Given the description of an element on the screen output the (x, y) to click on. 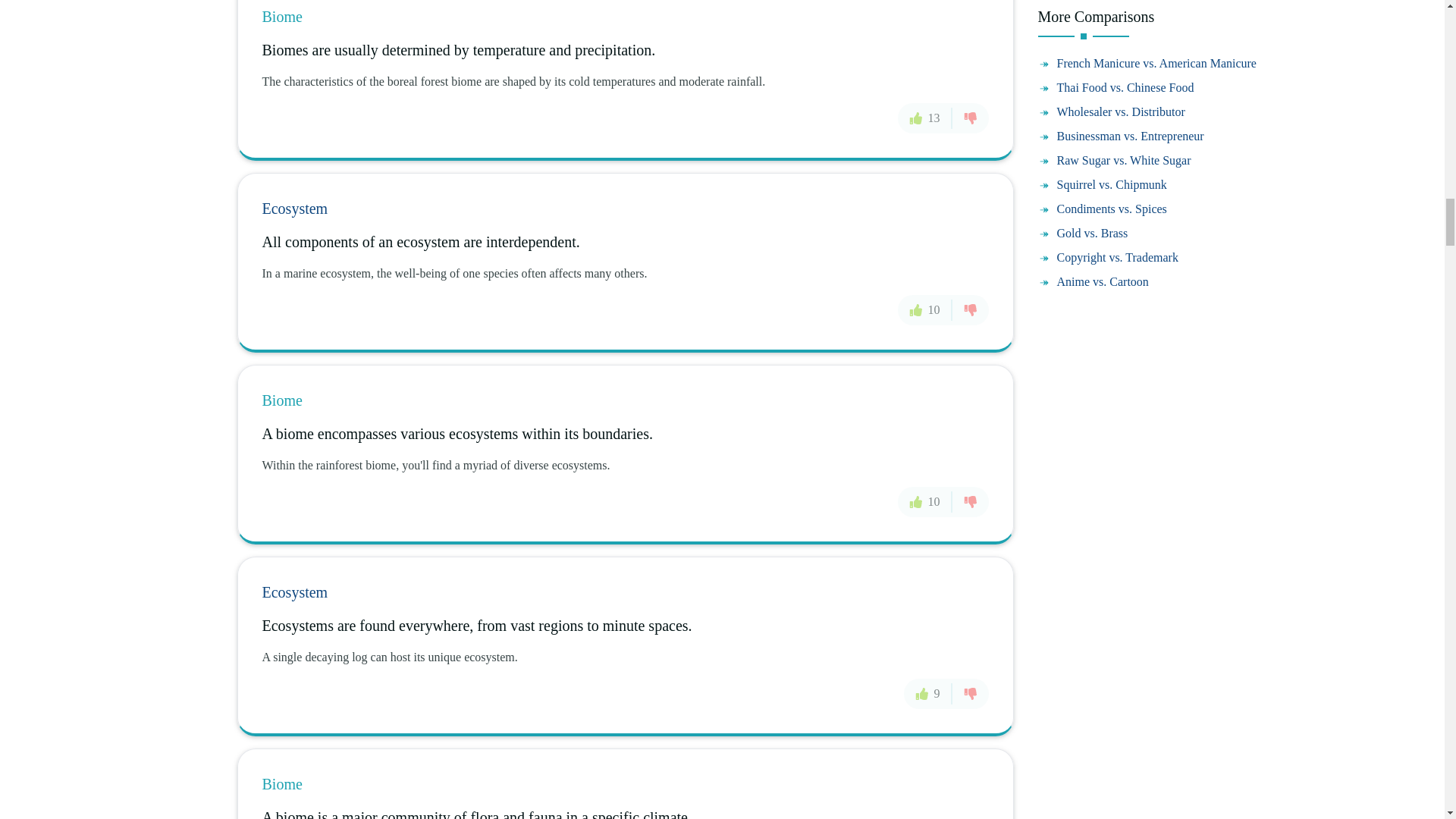
10 (925, 501)
9 (928, 693)
10 (925, 309)
13 (925, 118)
